Given the description of an element on the screen output the (x, y) to click on. 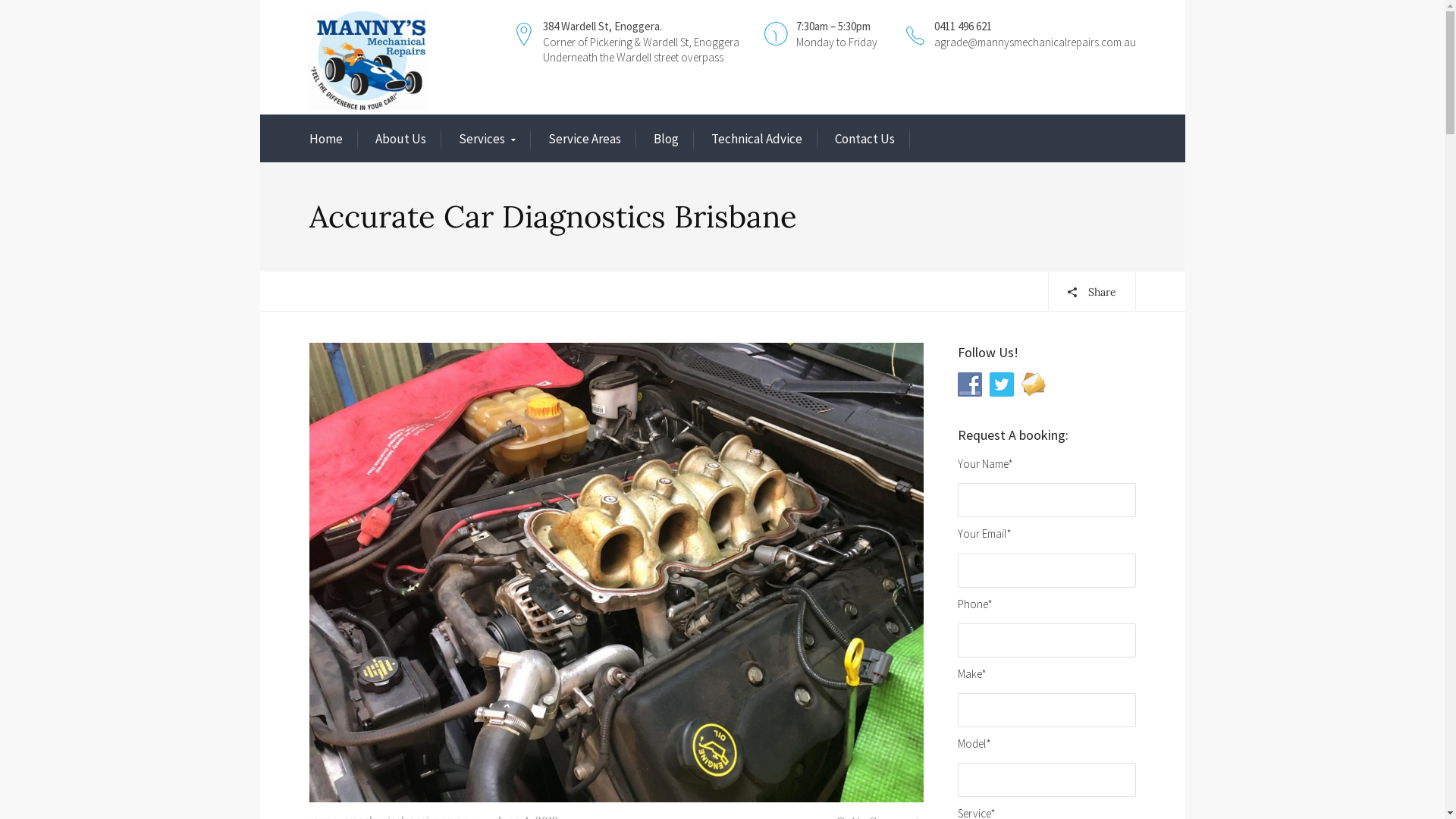
Follow Us on Twitter Element type: hover (1000, 384)
agrade@mannysmechanicalrepairs.com.au Element type: text (1034, 41)
Blog Element type: text (665, 138)
Follow Us on Facebook Element type: hover (969, 384)
Follow Us on E-mail Element type: hover (1032, 384)
Service Areas Element type: text (583, 138)
Technical Advice Element type: text (756, 138)
Accurate Car Diagnostics Brisbane Element type: hover (616, 570)
Home Element type: text (325, 138)
Services Element type: text (486, 139)
Contact Us Element type: text (864, 138)
About Us Element type: text (399, 138)
